Given the description of an element on the screen output the (x, y) to click on. 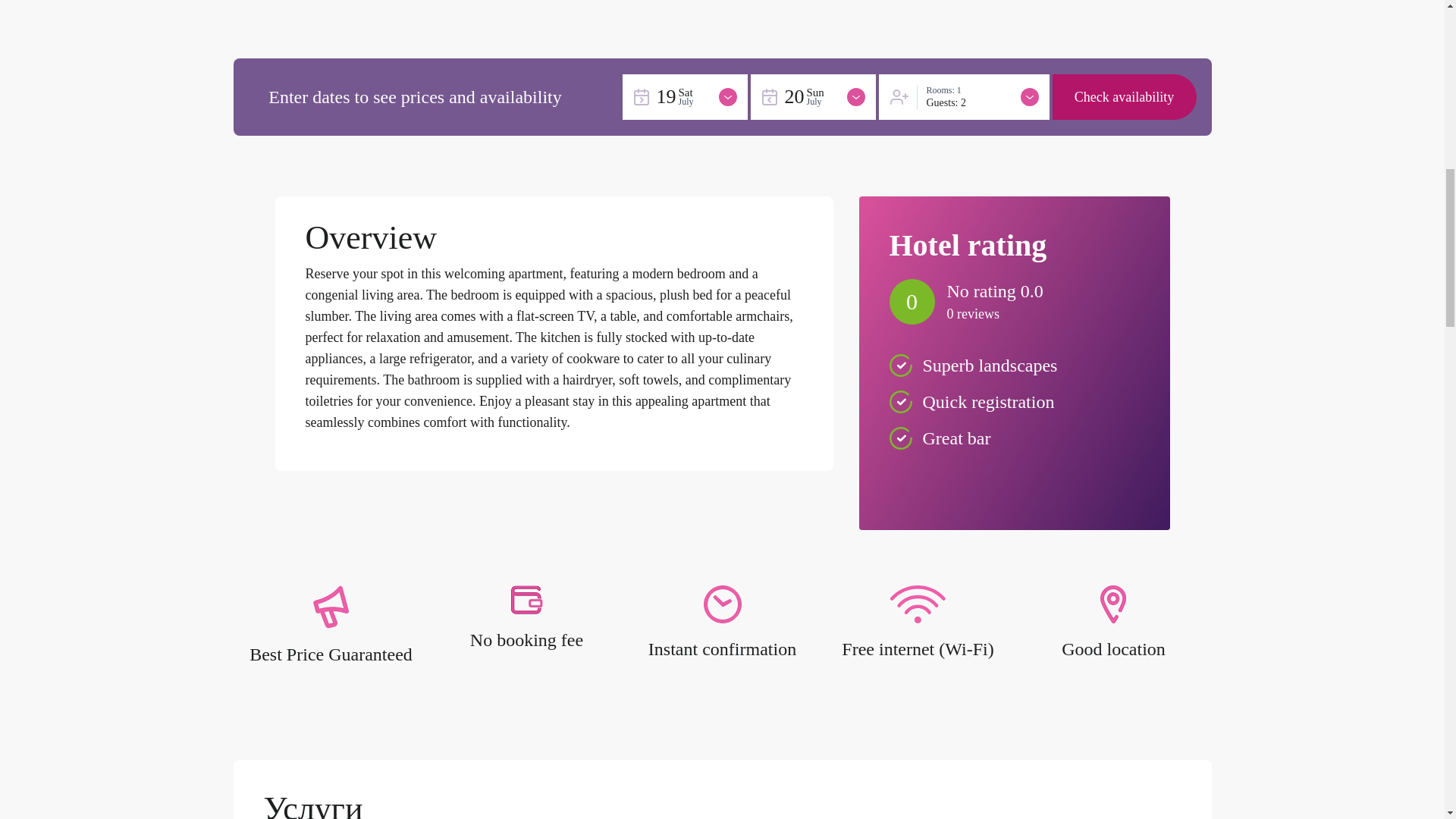
Guests: 2 (952, 102)
Rooms: 1 (952, 90)
Rooms: 1 (952, 90)
Guests: 2 (952, 102)
